Given the description of an element on the screen output the (x, y) to click on. 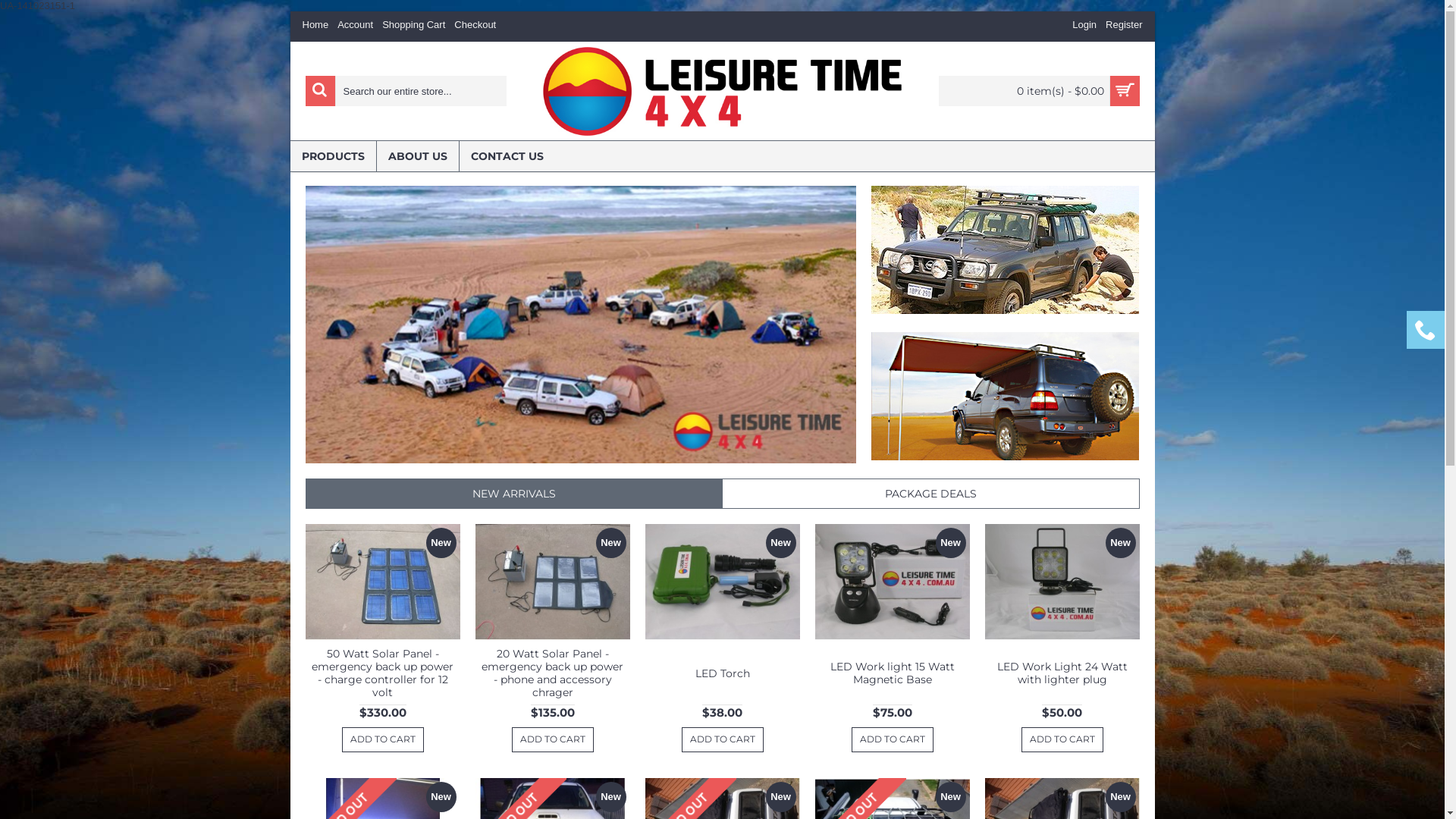
PRODUCTS Element type: text (332, 156)
ADD TO CART Element type: text (1061, 739)
LED Work light 15 Watt Magnetic Base Element type: hover (891, 582)
LED Torch Element type: text (721, 672)
Register Element type: text (1123, 26)
LED Work light 15 Watt Magnetic Base Element type: text (891, 672)
ADD TO CART Element type: text (721, 739)
Login Element type: text (1084, 26)
ADD TO CART Element type: text (382, 739)
CONTACT US Element type: text (507, 156)
ADD TO CART Element type: text (552, 739)
Home Element type: text (314, 26)
Leisure Time 4X4 Element type: hover (722, 90)
0 item(s) - $0.00 Element type: text (1038, 90)
Checkout Element type: text (474, 26)
NEW ARRIVALS Element type: text (513, 494)
PACKAGE DEALS Element type: text (929, 494)
Account Element type: text (354, 26)
Shopping Cart Element type: text (413, 26)
ABOUT US Element type: text (417, 156)
LED Work Light 24 Watt with lighter plug Element type: text (1061, 672)
LED Work Light 24 Watt with lighter plug Element type: hover (1061, 582)
ADD TO CART Element type: text (891, 739)
LED Torch  Element type: hover (721, 582)
